Given the description of an element on the screen output the (x, y) to click on. 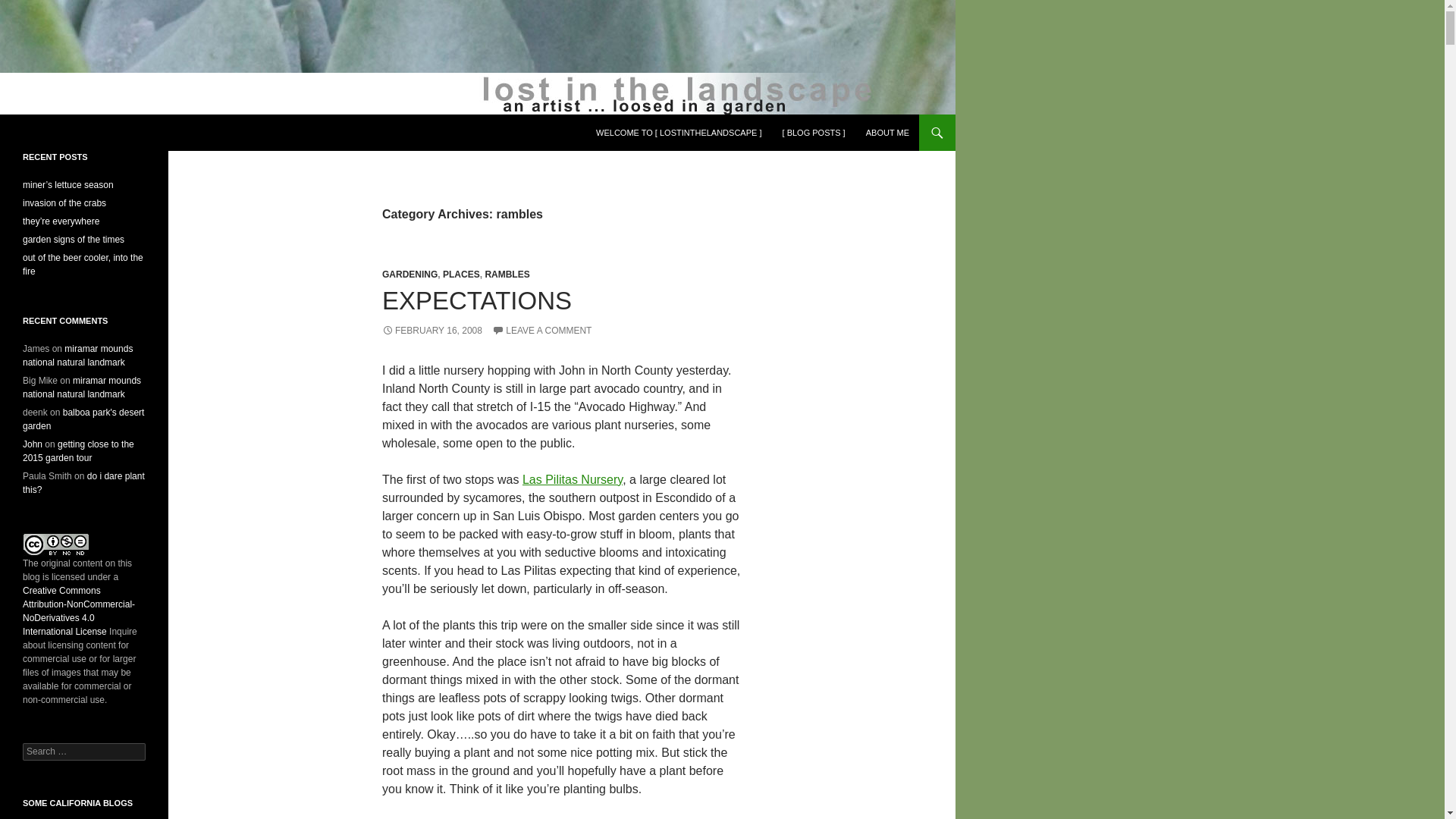
EXPECTATIONS (476, 300)
RAMBLES (506, 274)
PLACES (461, 274)
FEBRUARY 16, 2008 (431, 330)
Las Pilitas Nursery (572, 479)
LEAVE A COMMENT (541, 330)
GARDENING (409, 274)
ABOUT ME (887, 132)
